Given the description of an element on the screen output the (x, y) to click on. 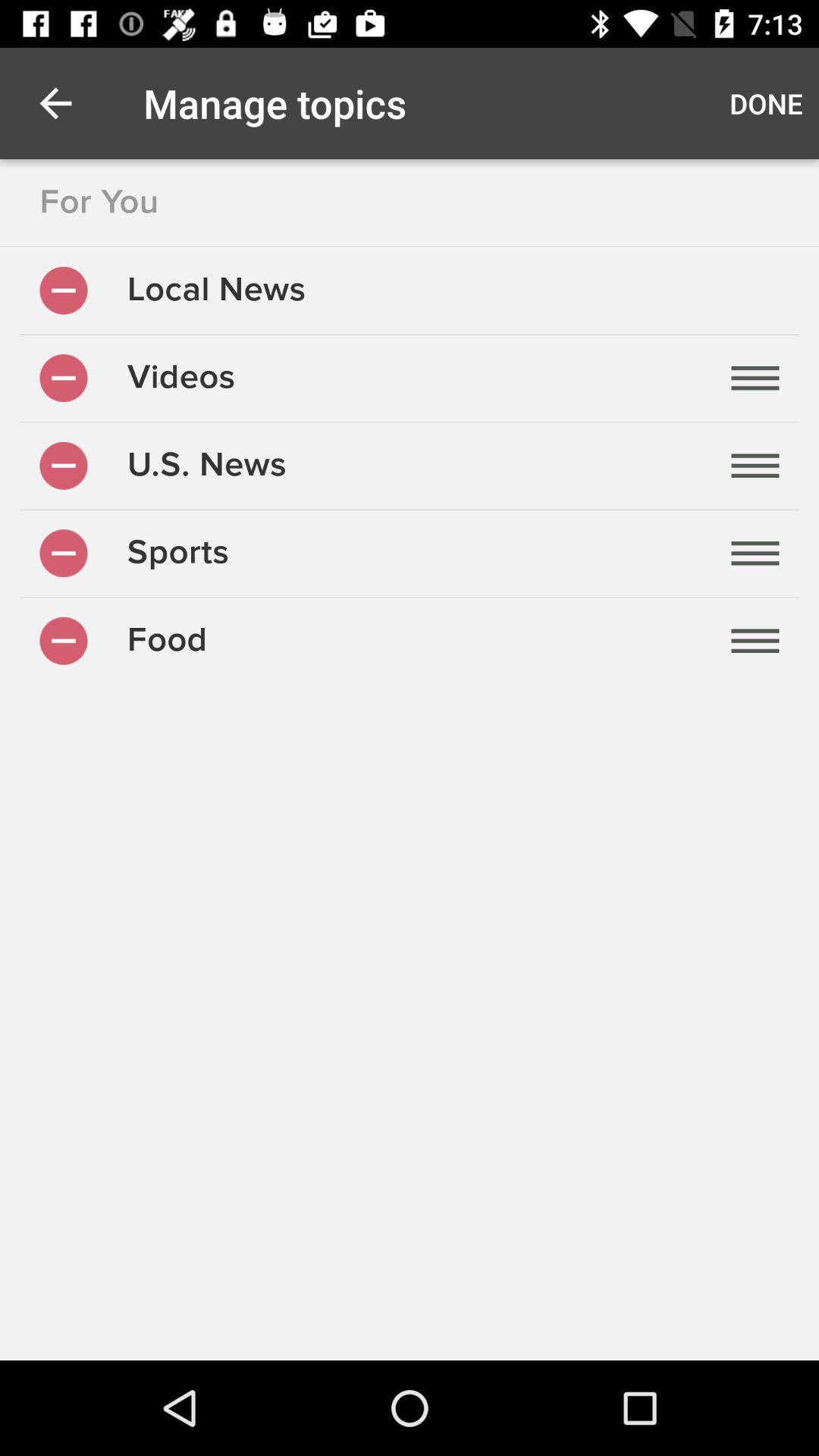
flip until the done (766, 103)
